Given the description of an element on the screen output the (x, y) to click on. 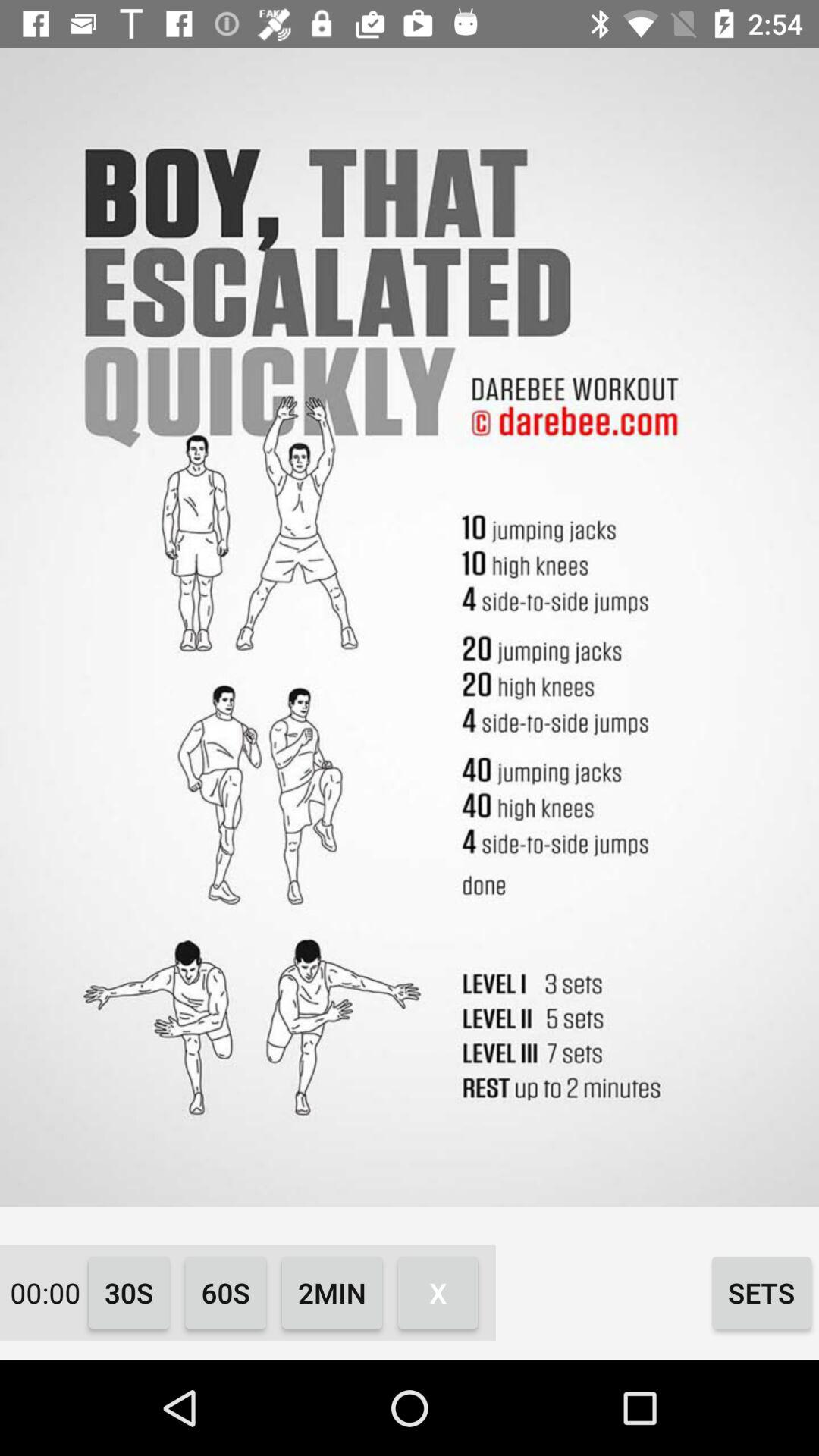
press icon to the right of 2min (437, 1292)
